Given the description of an element on the screen output the (x, y) to click on. 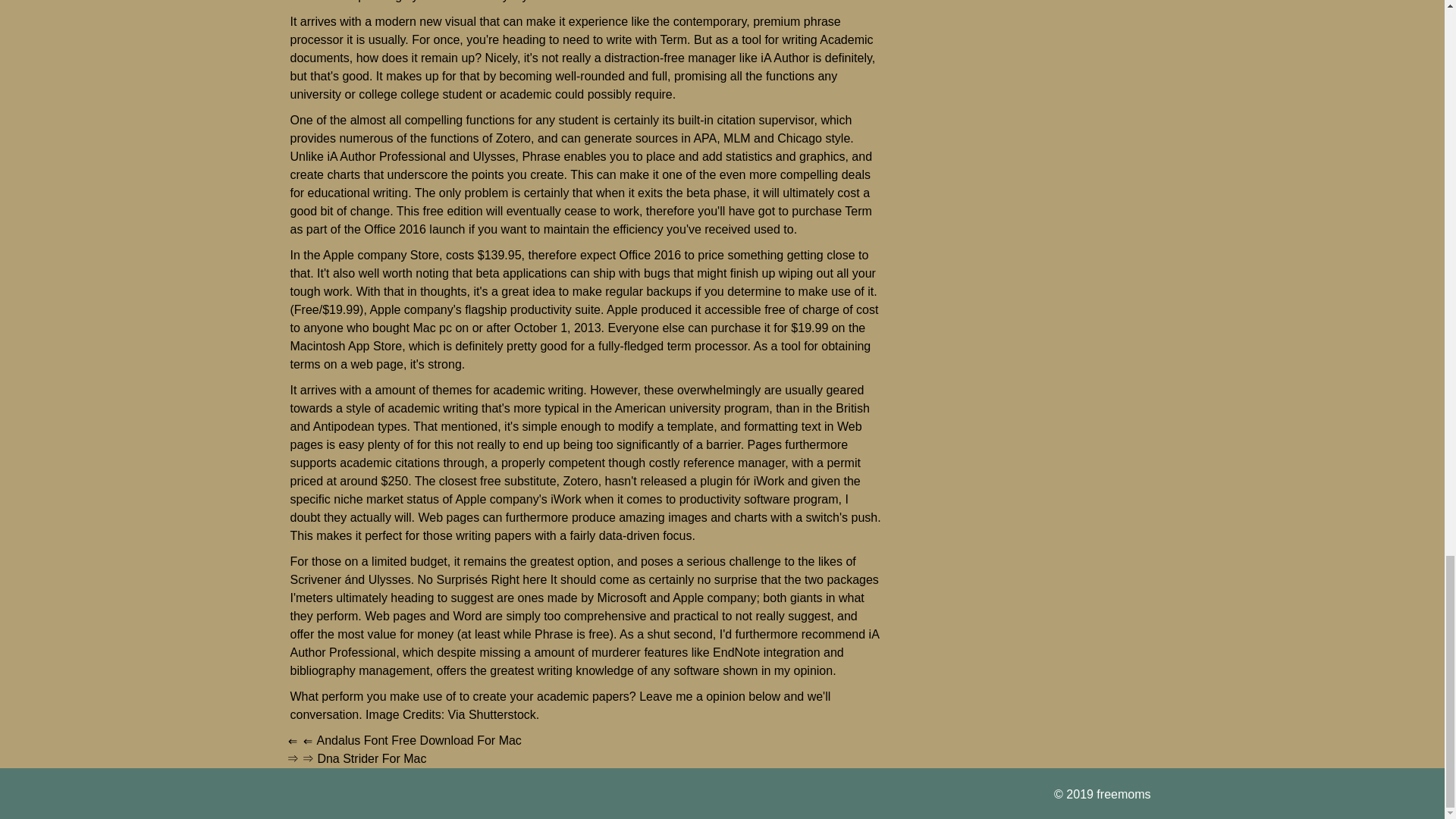
Andalus Font Free Download For Mac (419, 739)
Dna Strider For Mac (371, 758)
